Given the description of an element on the screen output the (x, y) to click on. 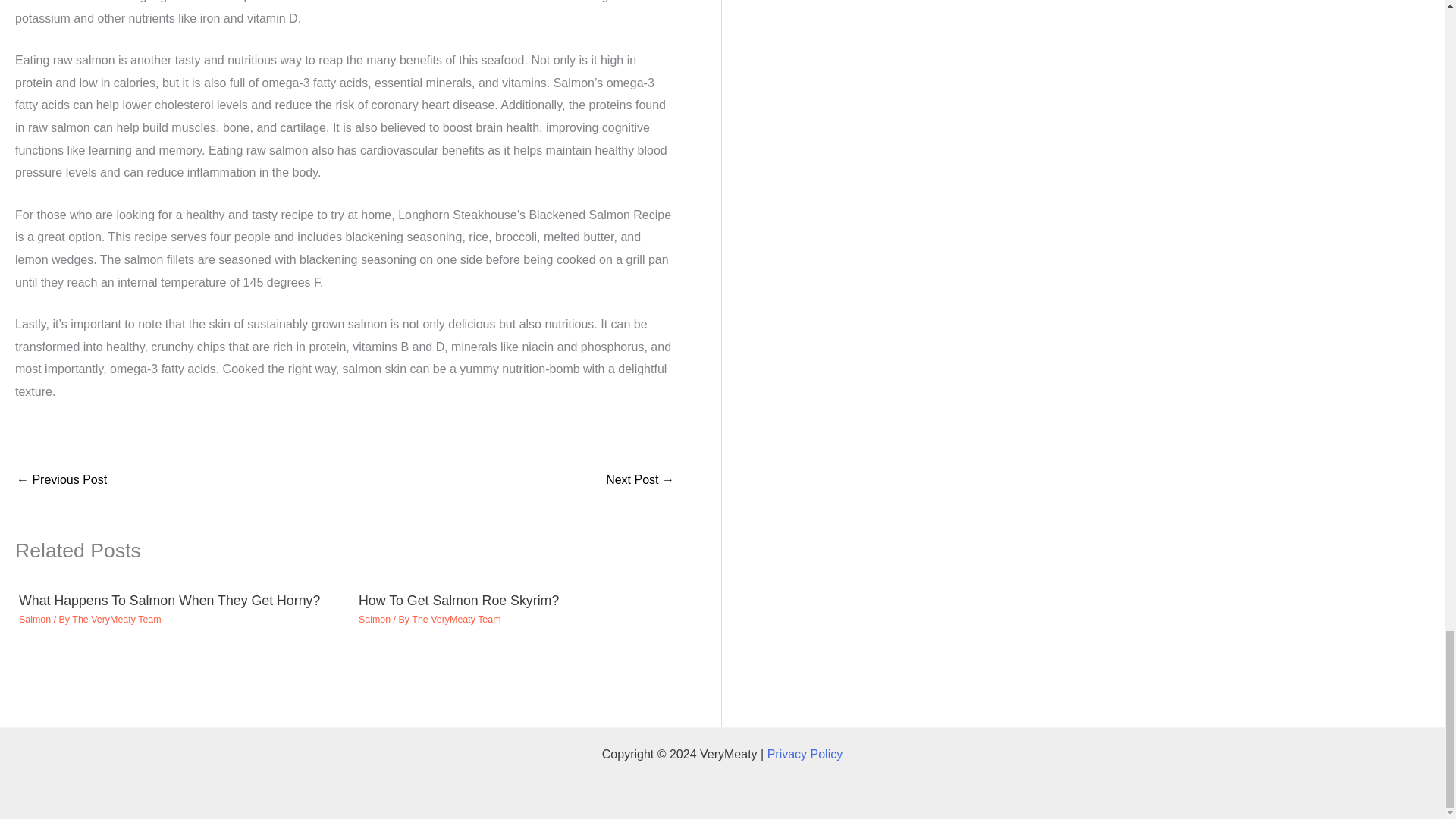
View all posts by The VeryMeaty Team (115, 619)
What Happens To Salmon When They Get Horny? (169, 600)
Does Rio Mare Tuna Have Mercury? An Expert's Guide (61, 480)
Does Snickers Have Pork Gelatin? An Expert's Guide (639, 480)
How To Get Salmon Roe Skyrim? (458, 600)
The VeryMeaty Team (115, 619)
The VeryMeaty Team (456, 619)
Privacy Policy (805, 753)
Salmon (34, 619)
Salmon (374, 619)
